Given the description of an element on the screen output the (x, y) to click on. 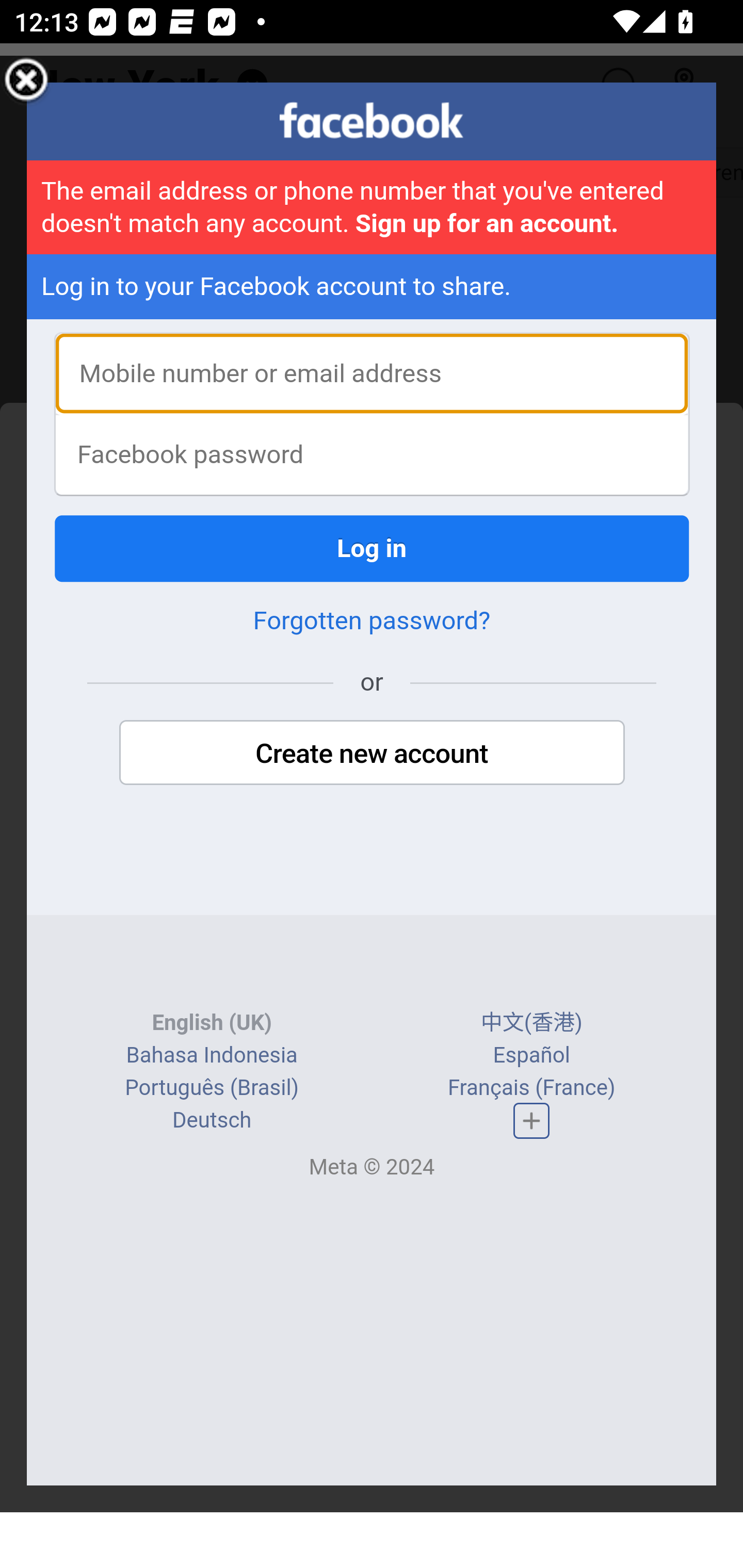
facebook (372, 121)
Sign up for an account. (485, 224)
Log in (372, 549)
Forgotten password? (371, 622)
Create new account (371, 754)
中文(香港) (531, 1023)
Bahasa Indonesia (210, 1055)
Español (530, 1055)
Português (Brasil) (211, 1088)
Français (France) (530, 1088)
Complete list of languages (531, 1121)
Deutsch (211, 1121)
